Given the description of an element on the screen output the (x, y) to click on. 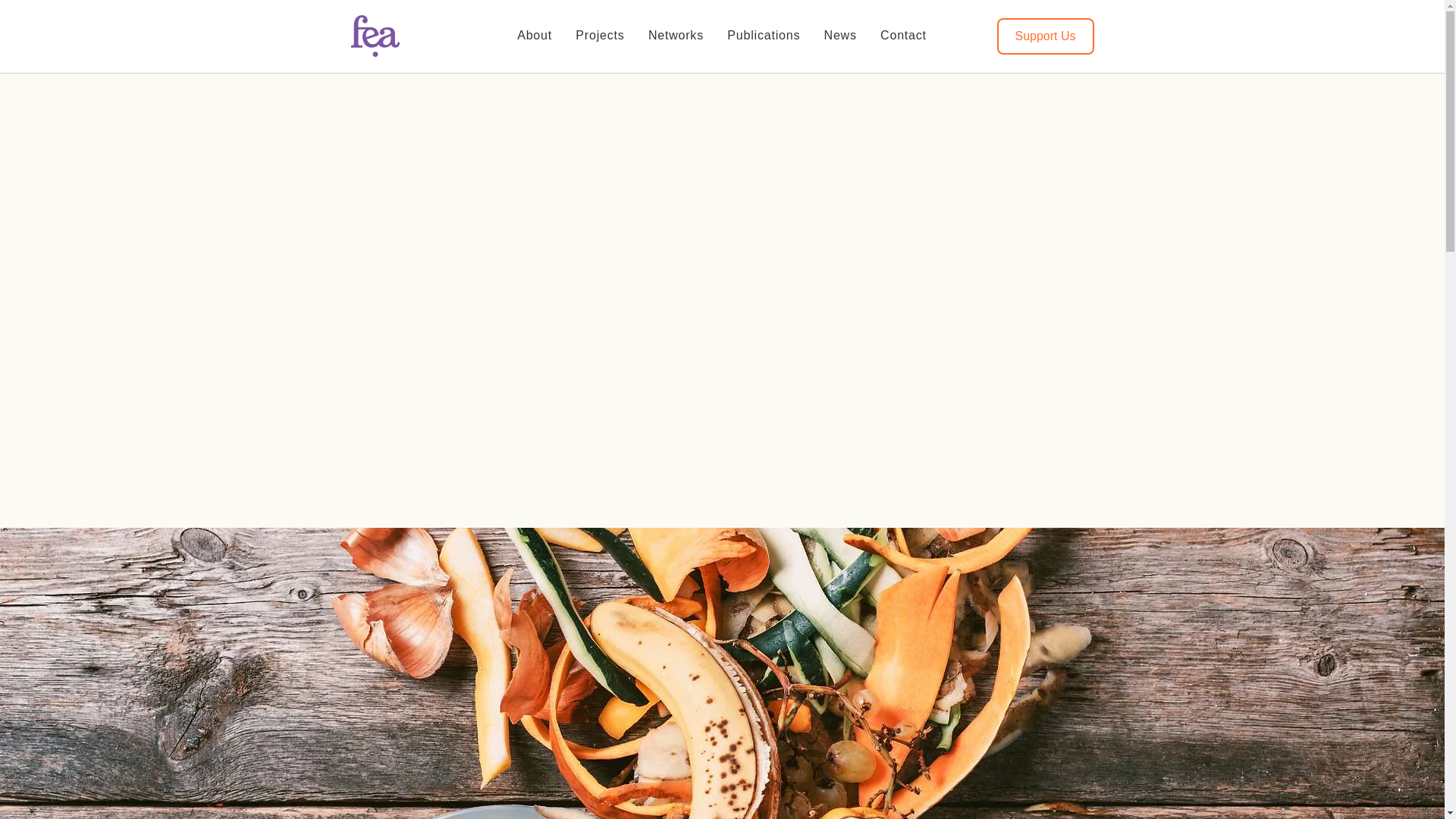
About (534, 35)
Contact (902, 35)
News (840, 35)
Projects (600, 35)
Support Us (1044, 36)
Publications (764, 35)
Networks (675, 35)
